Given the description of an element on the screen output the (x, y) to click on. 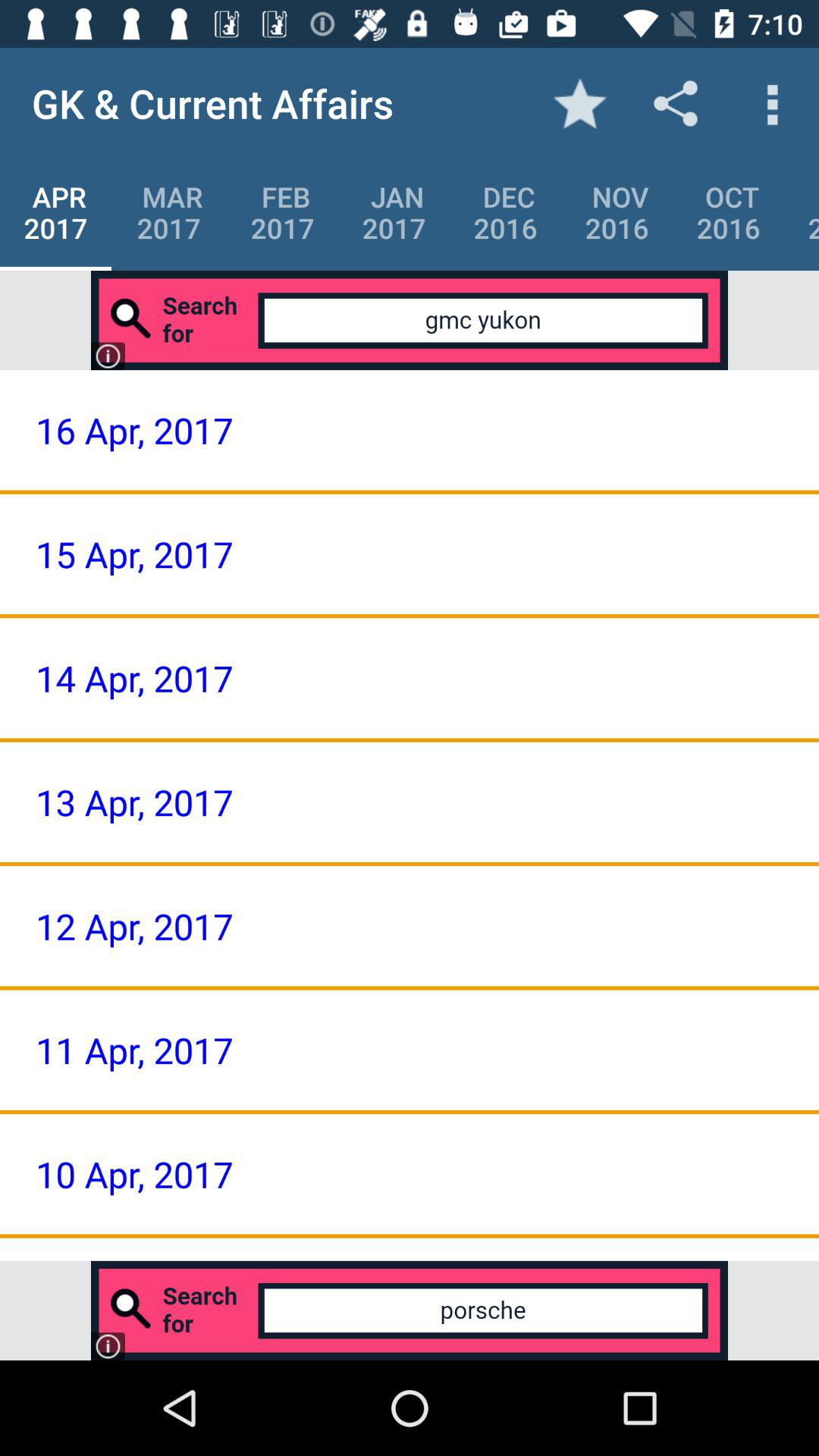
scroll to mar
2017 (168, 212)
